Given the description of an element on the screen output the (x, y) to click on. 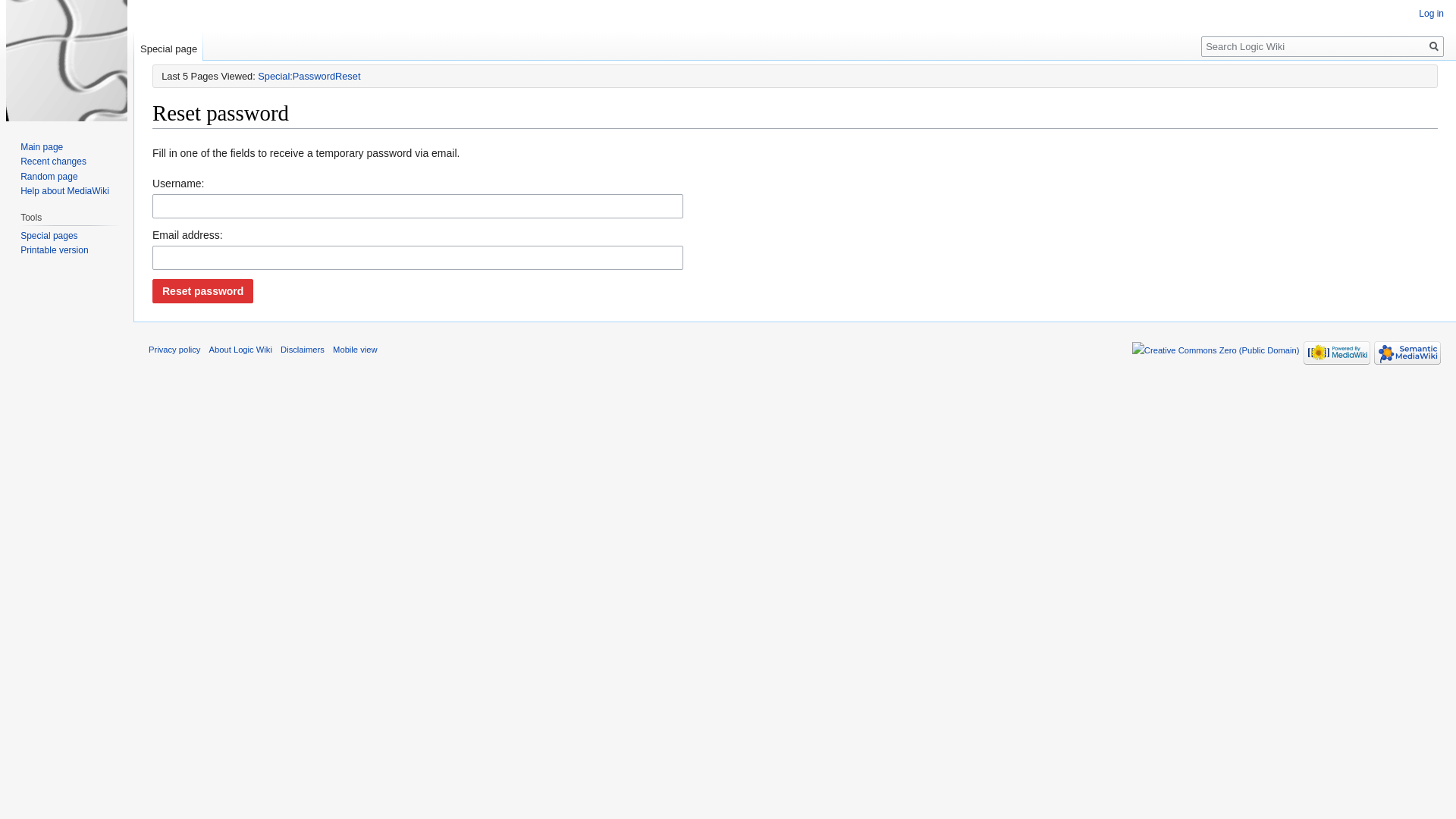
Special pages Element type: text (48, 235)
Disclaimers Element type: text (302, 349)
Printable version Element type: text (53, 249)
Go Element type: text (1433, 46)
Random page Element type: text (48, 176)
Mobile view Element type: text (354, 349)
Special page Element type: text (168, 45)
Visit the main page Element type: hover (66, 60)
About Logic Wiki Element type: text (240, 349)
Log in Element type: text (1430, 13)
Privacy policy Element type: text (174, 349)
Search Logic Wiki [alt-shift-f] Element type: hover (1322, 46)
Special:PasswordReset Element type: text (308, 75)
Go to a page with this exact name if it exists Element type: hover (1433, 46)
Reset password Element type: text (202, 291)
Help about MediaWiki Element type: text (64, 190)
Recent changes Element type: text (53, 161)
Jump to navigation Element type: text (151, 140)
Main page Element type: text (41, 146)
